Given the description of an element on the screen output the (x, y) to click on. 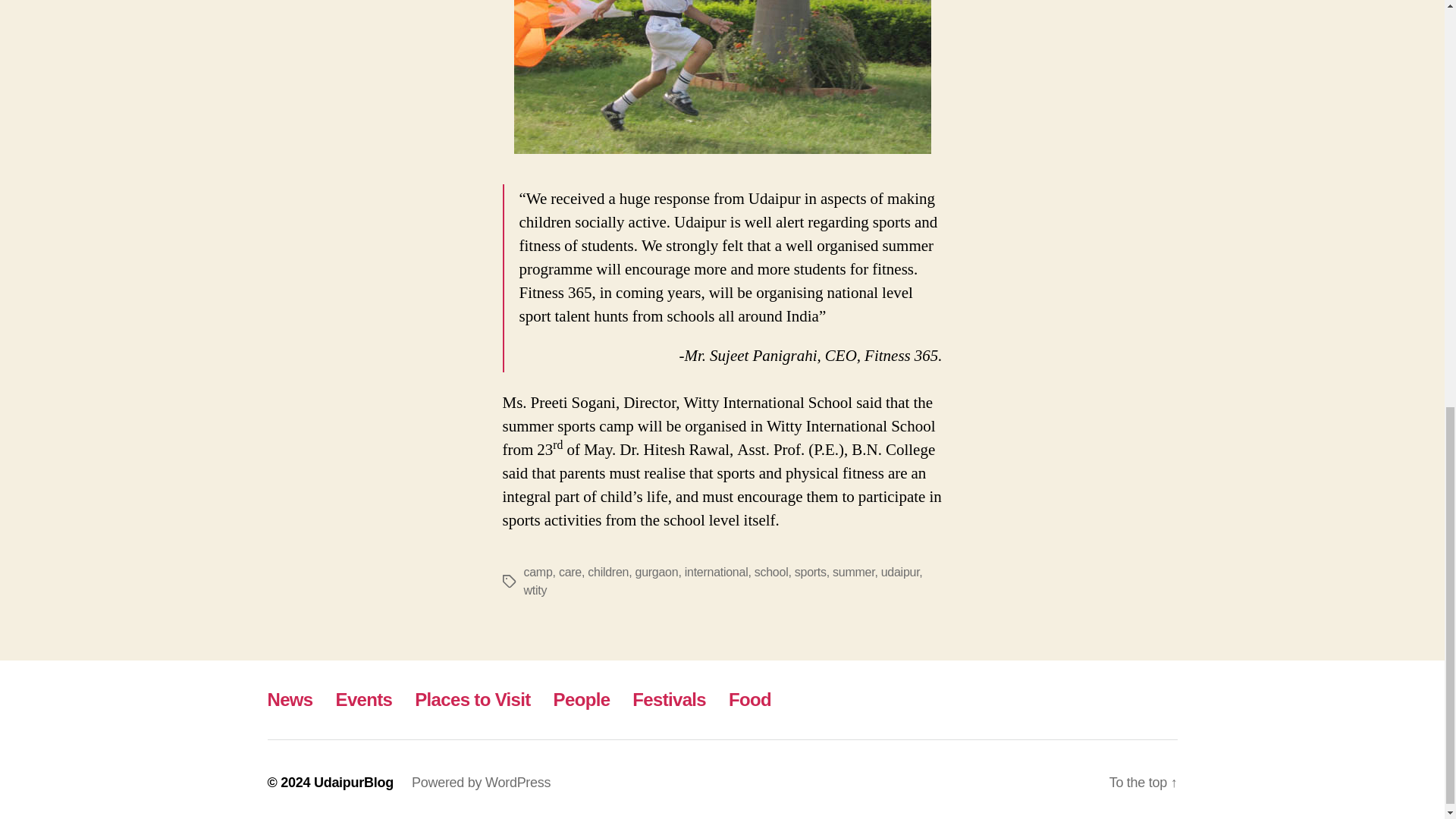
international (716, 571)
sports (810, 571)
camp (536, 571)
Child Playing (722, 76)
care (569, 571)
children (608, 571)
school (771, 571)
gurgaon (656, 571)
